Given the description of an element on the screen output the (x, y) to click on. 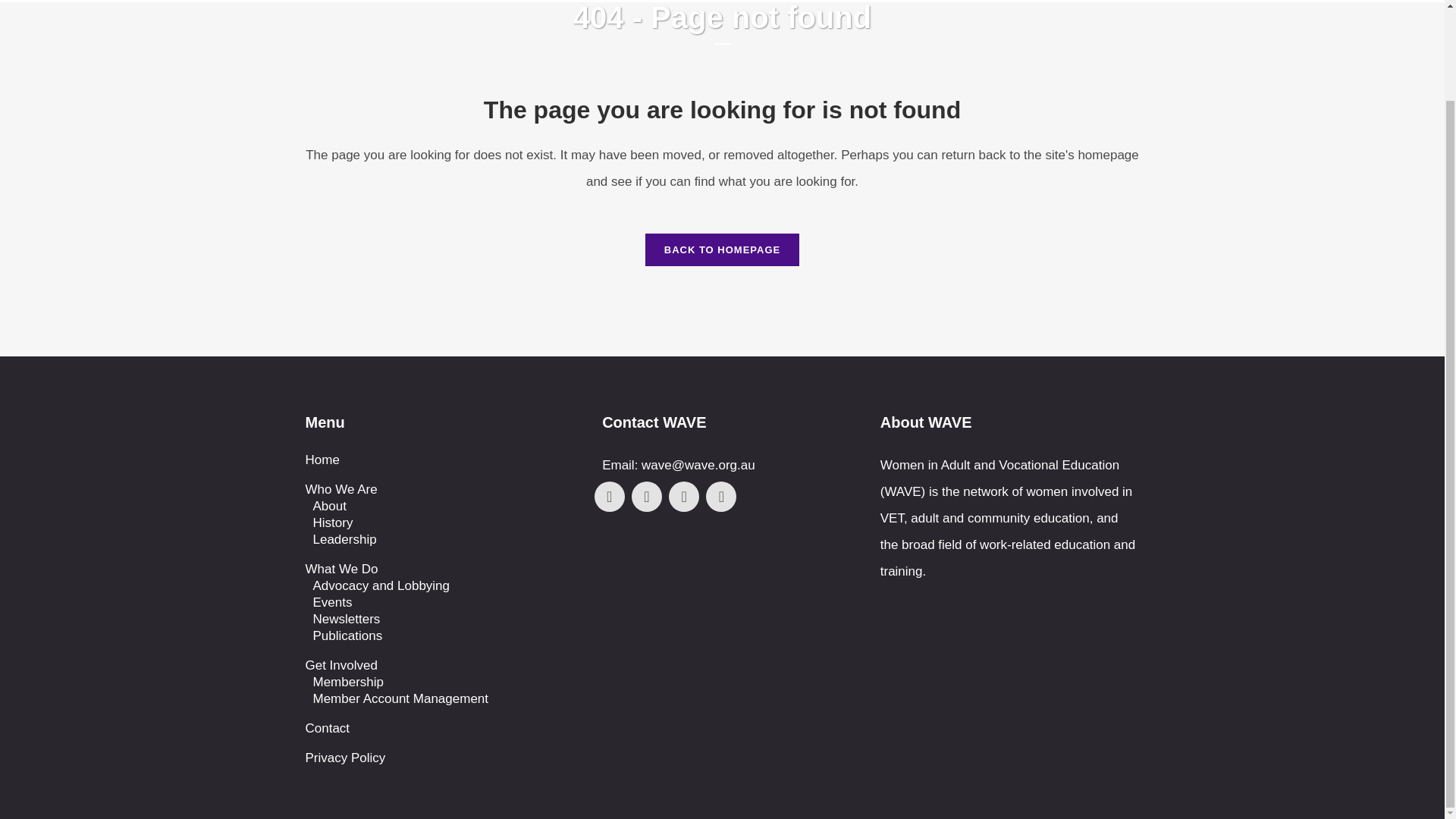
Home (438, 460)
Home (660, 1)
Who We Are (438, 489)
Leadership (442, 539)
Advocacy and Lobbying (442, 586)
Events (442, 602)
What We Do (438, 569)
History (442, 523)
About (442, 506)
Contact (986, 1)
